Given the description of an element on the screen output the (x, y) to click on. 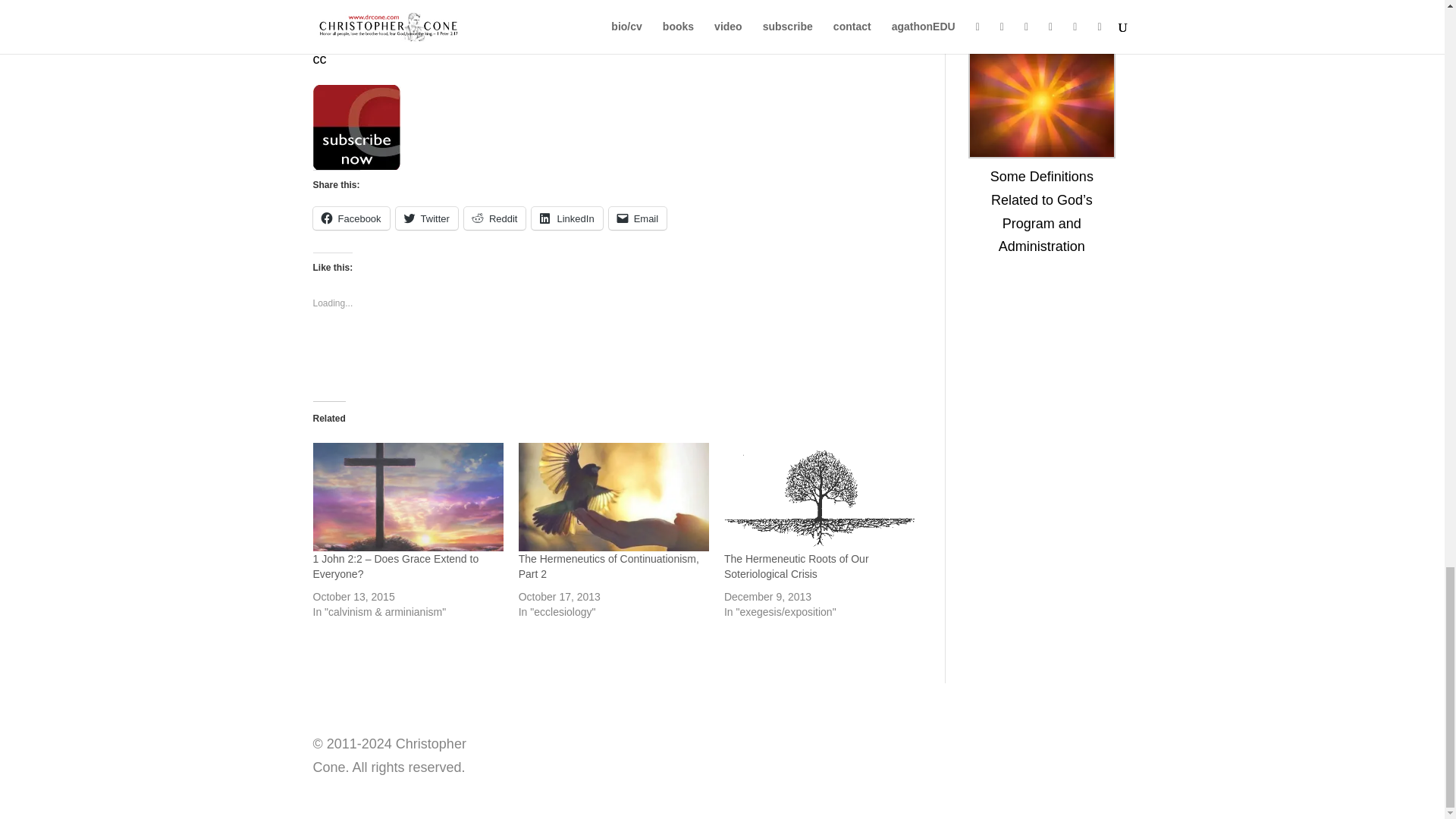
LinkedIn (566, 218)
Reddit (494, 218)
Twitter (427, 218)
Email (637, 218)
Facebook (350, 218)
